Given the description of an element on the screen output the (x, y) to click on. 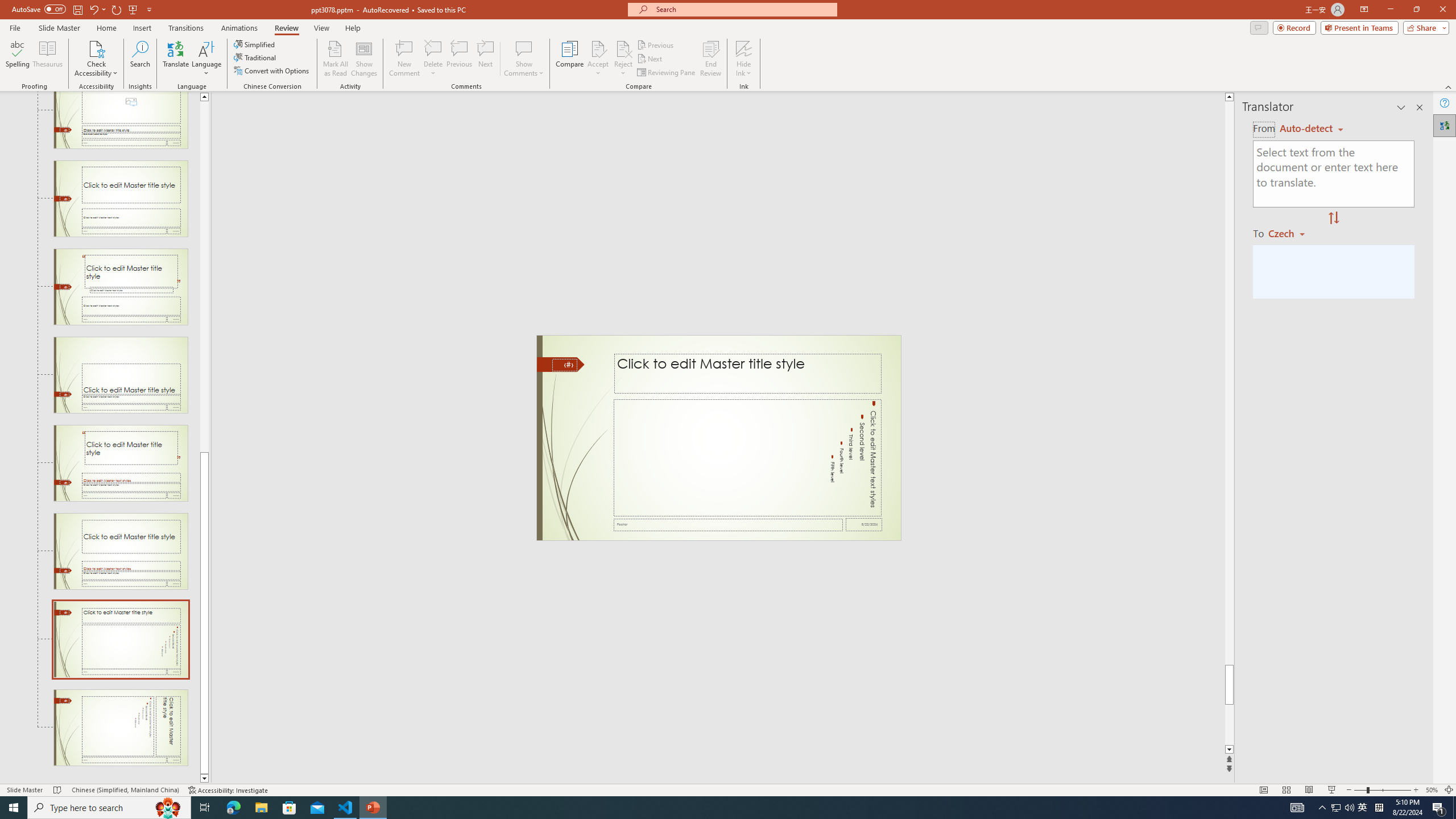
Zoom 50% (1431, 790)
